Given the description of an element on the screen output the (x, y) to click on. 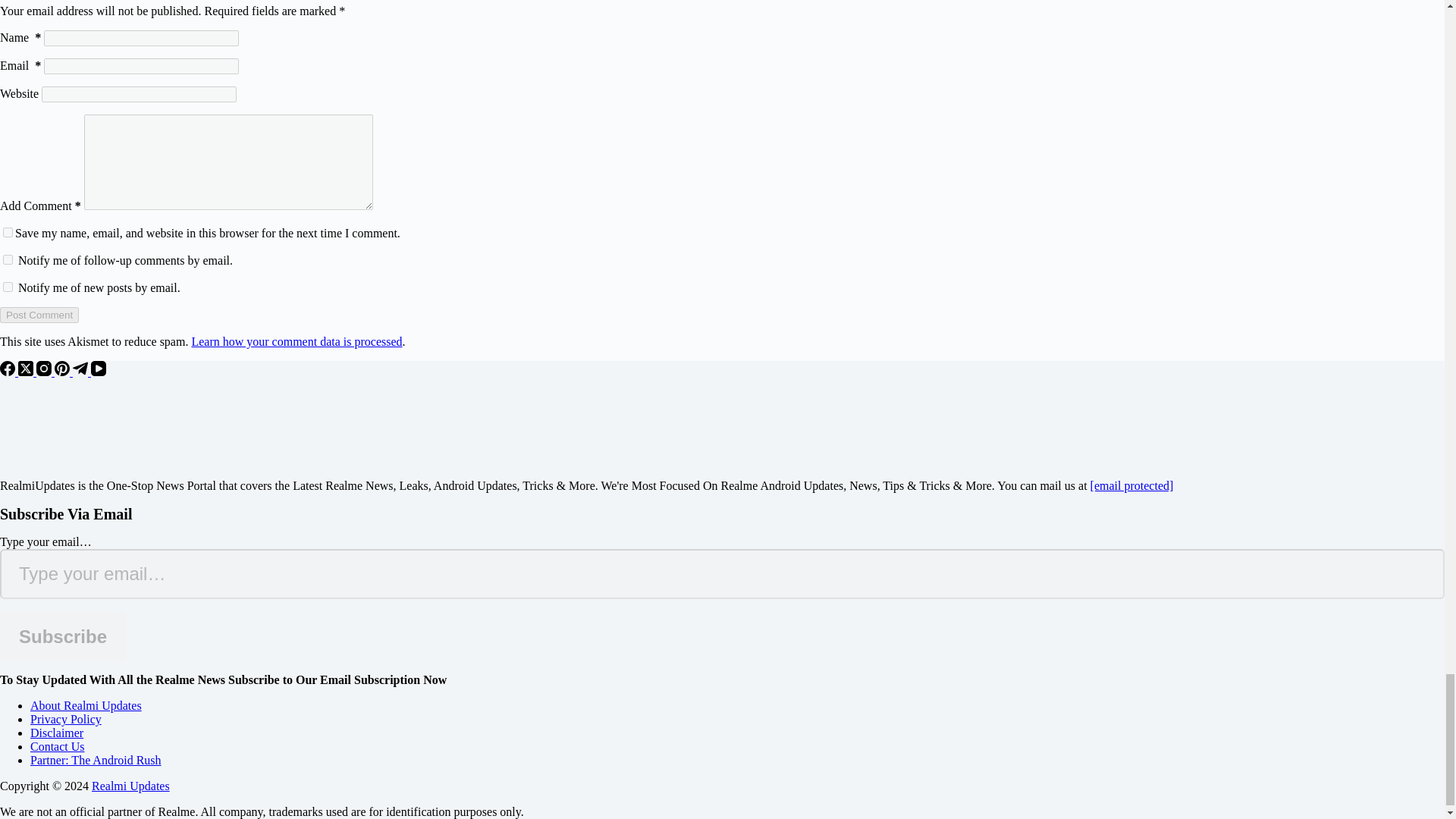
yes (7, 232)
subscribe (7, 286)
subscribe (7, 259)
